Given the description of an element on the screen output the (x, y) to click on. 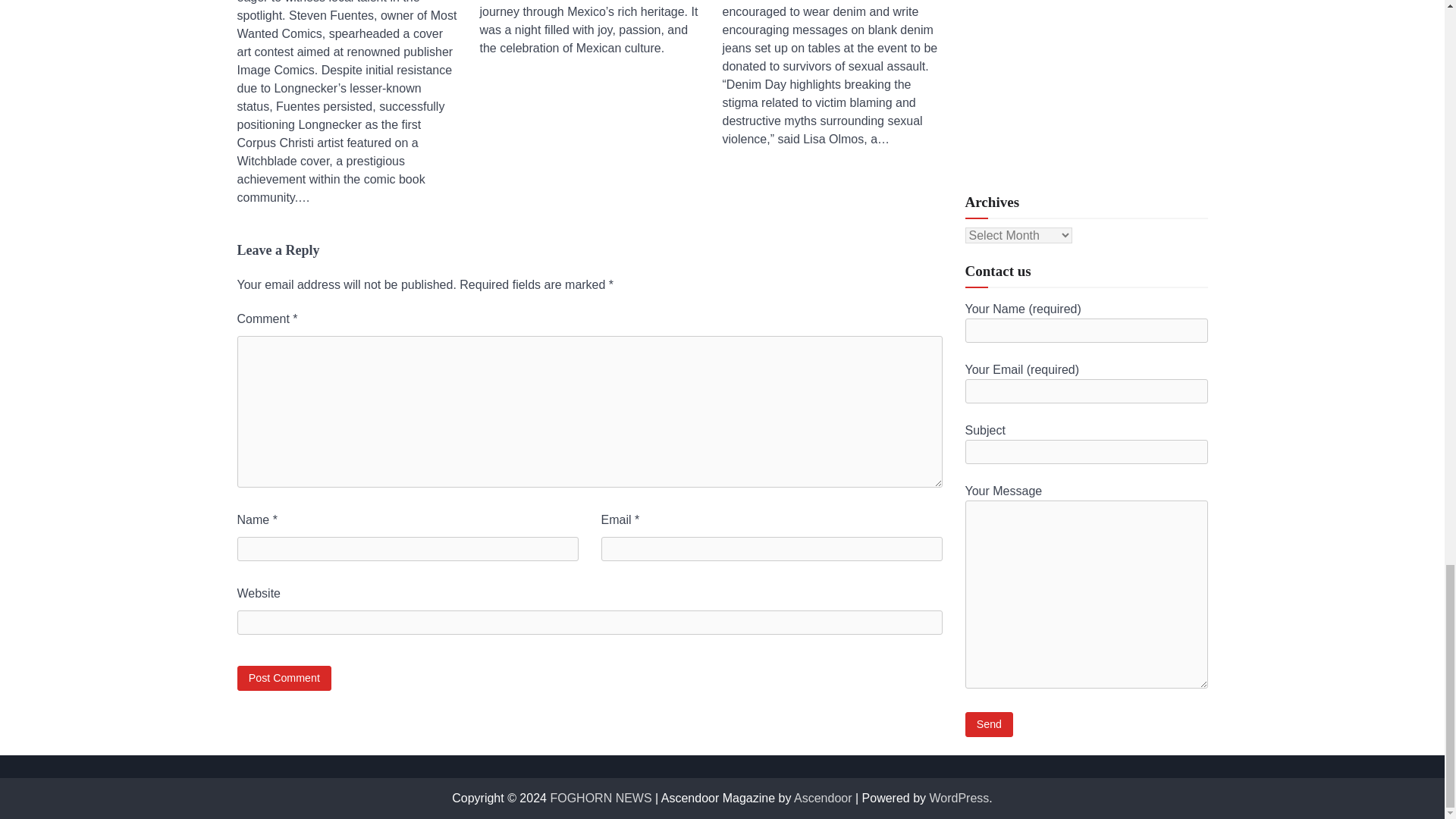
WordPress (960, 797)
Ascendoor (822, 797)
Post Comment (283, 678)
Post Comment (283, 678)
FOGHORN NEWS (600, 797)
